Given the description of an element on the screen output the (x, y) to click on. 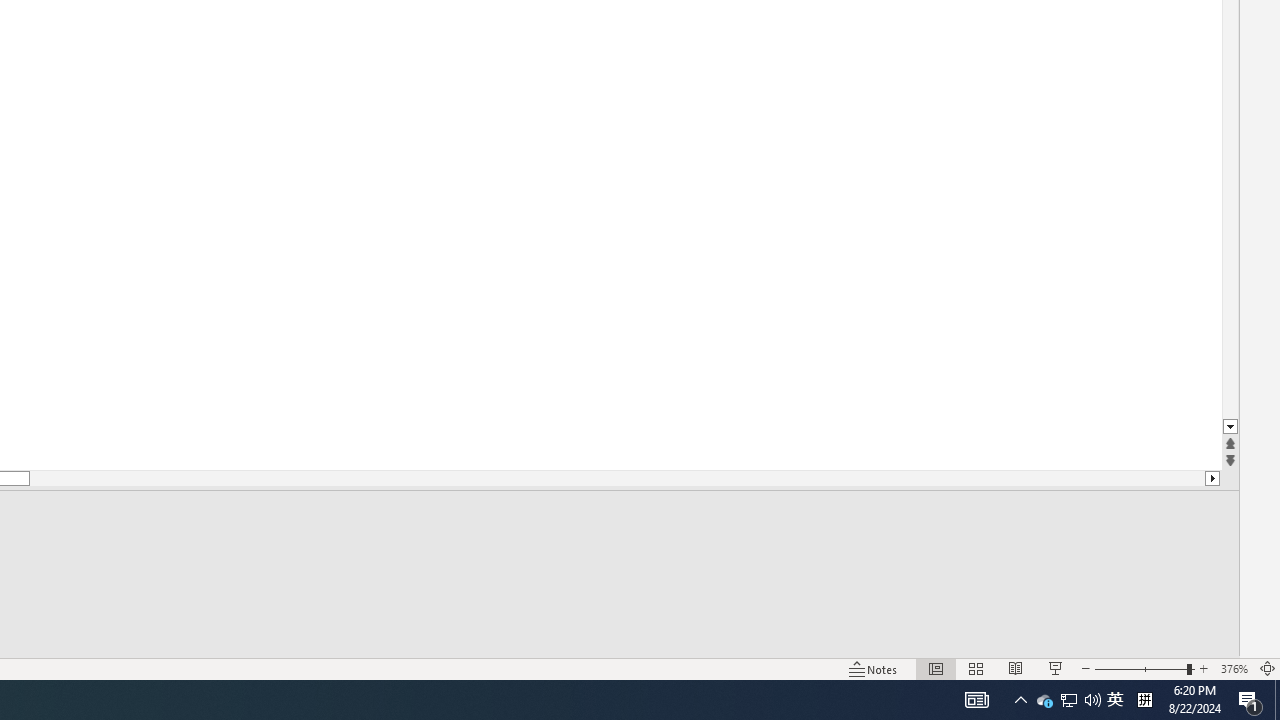
Zoom 376% (1234, 668)
